Given the description of an element on the screen output the (x, y) to click on. 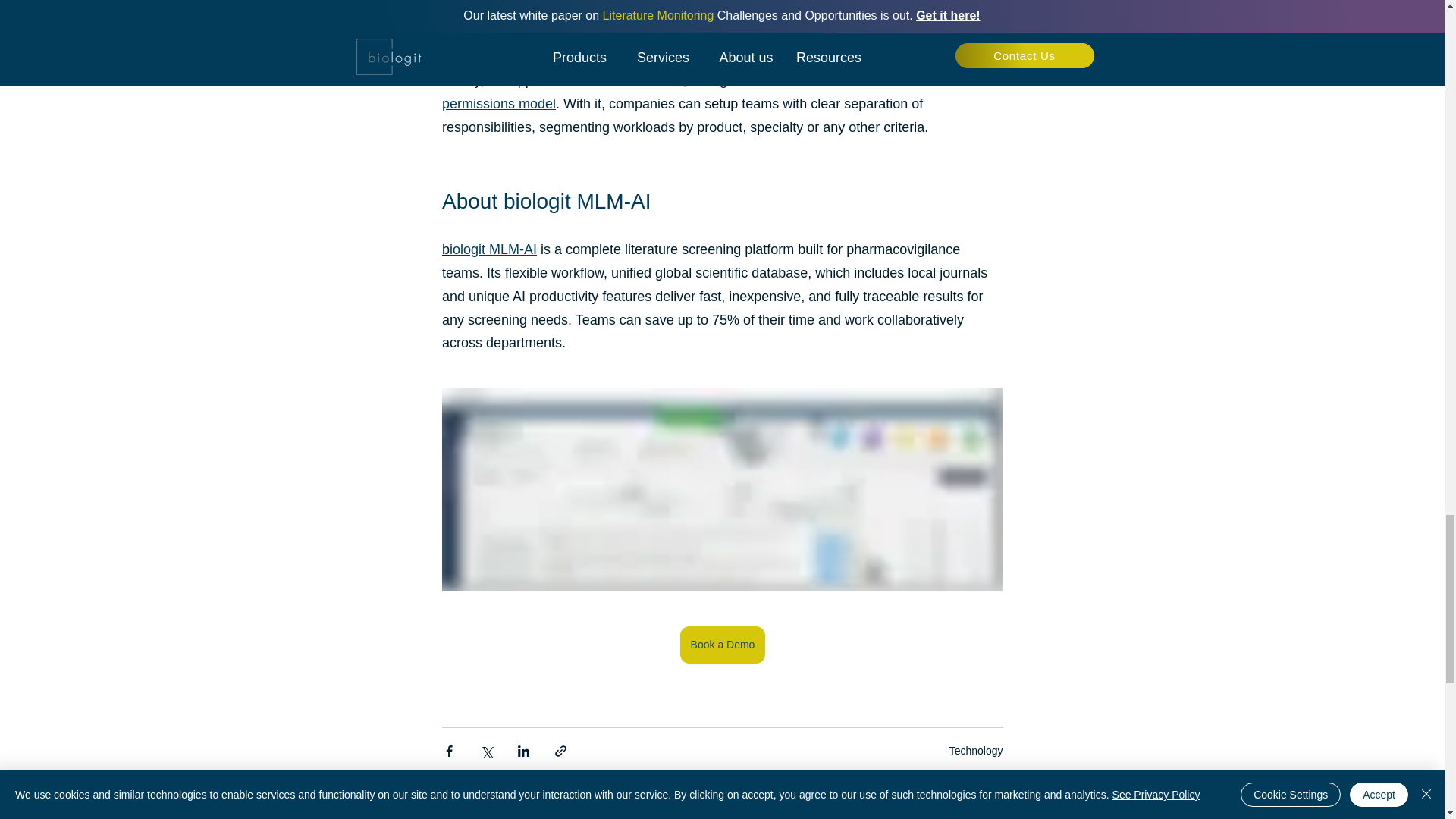
Technology (976, 750)
a flexible role-based permissions model (690, 91)
Book a Demo (722, 644)
iologit MLM-AI (493, 249)
